Given the description of an element on the screen output the (x, y) to click on. 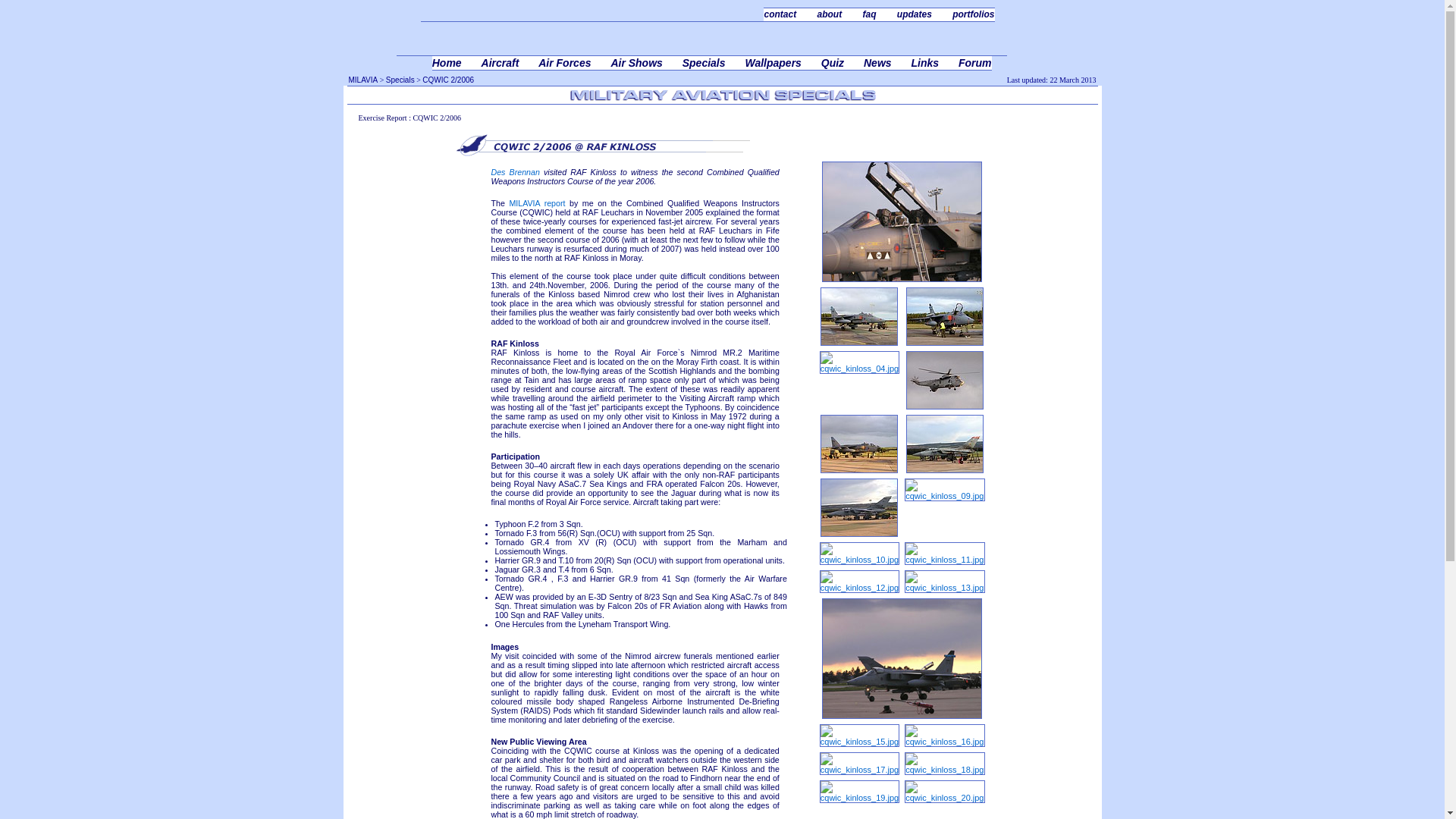
MILAVIA report (536, 203)
Home (457, 62)
portfolios (963, 14)
Specials (715, 62)
Wallpapers (783, 62)
News (887, 62)
Des Brennan (516, 171)
Links (935, 62)
Quiz (843, 62)
faq (878, 14)
Air Forces (575, 62)
Air Shows (647, 62)
MILAVIA (363, 80)
Specials (399, 80)
about (839, 14)
